Given the description of an element on the screen output the (x, y) to click on. 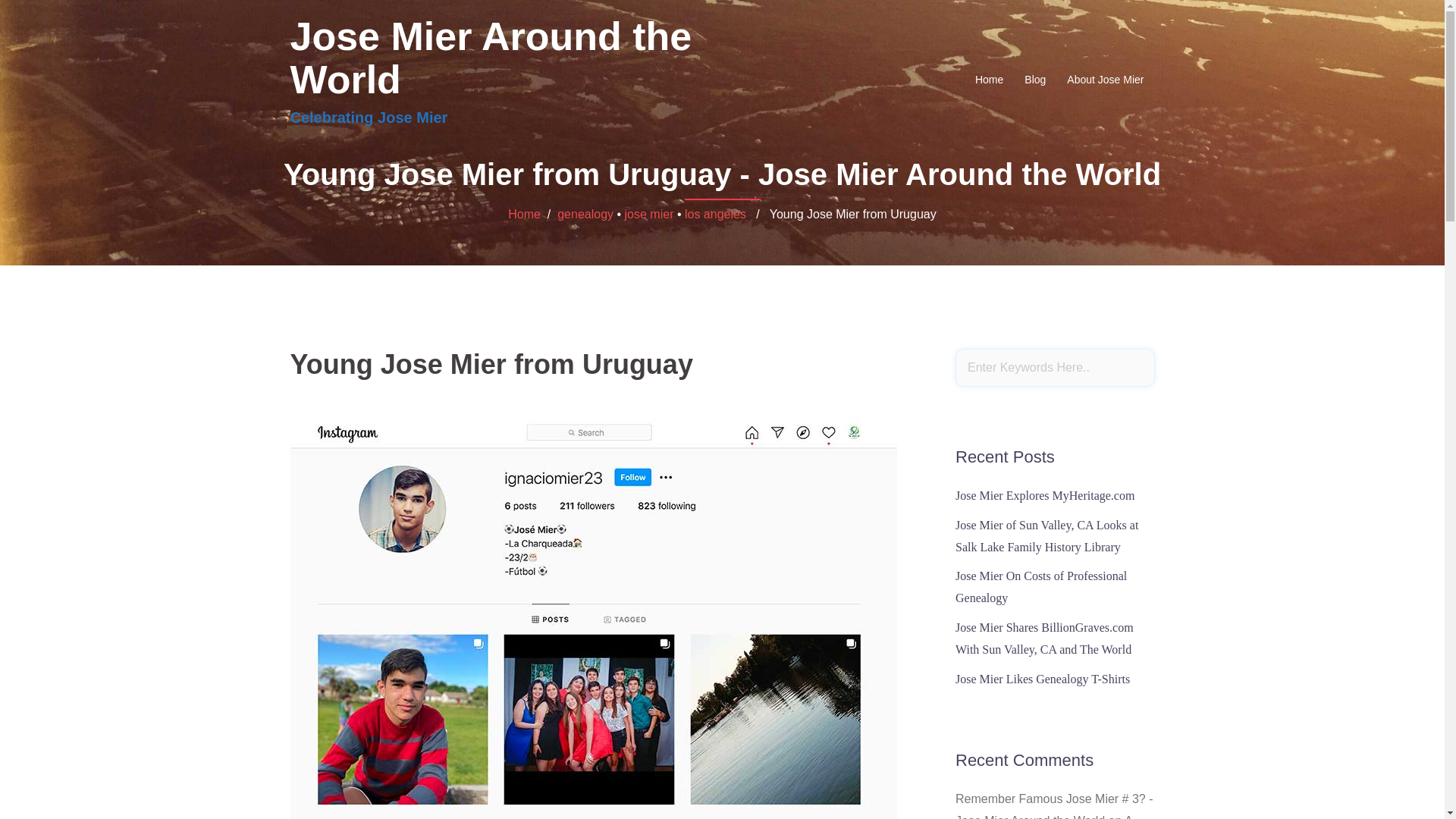
Search (50, 18)
A Jose Mier in My Own Sun Valley (1043, 816)
Jose Mier Likes Genealogy T-Shirts (1042, 678)
About Jose Mier (1104, 79)
Jose Mier Around the World (490, 57)
Jose Mier On Costs of Professional Genealogy (1040, 586)
genealogy (584, 214)
jose mier (649, 214)
Jose Mier Explores MyHeritage.com (1044, 495)
los angeles (714, 214)
Blog (1035, 79)
Home (524, 214)
Home (989, 79)
